Given the description of an element on the screen output the (x, y) to click on. 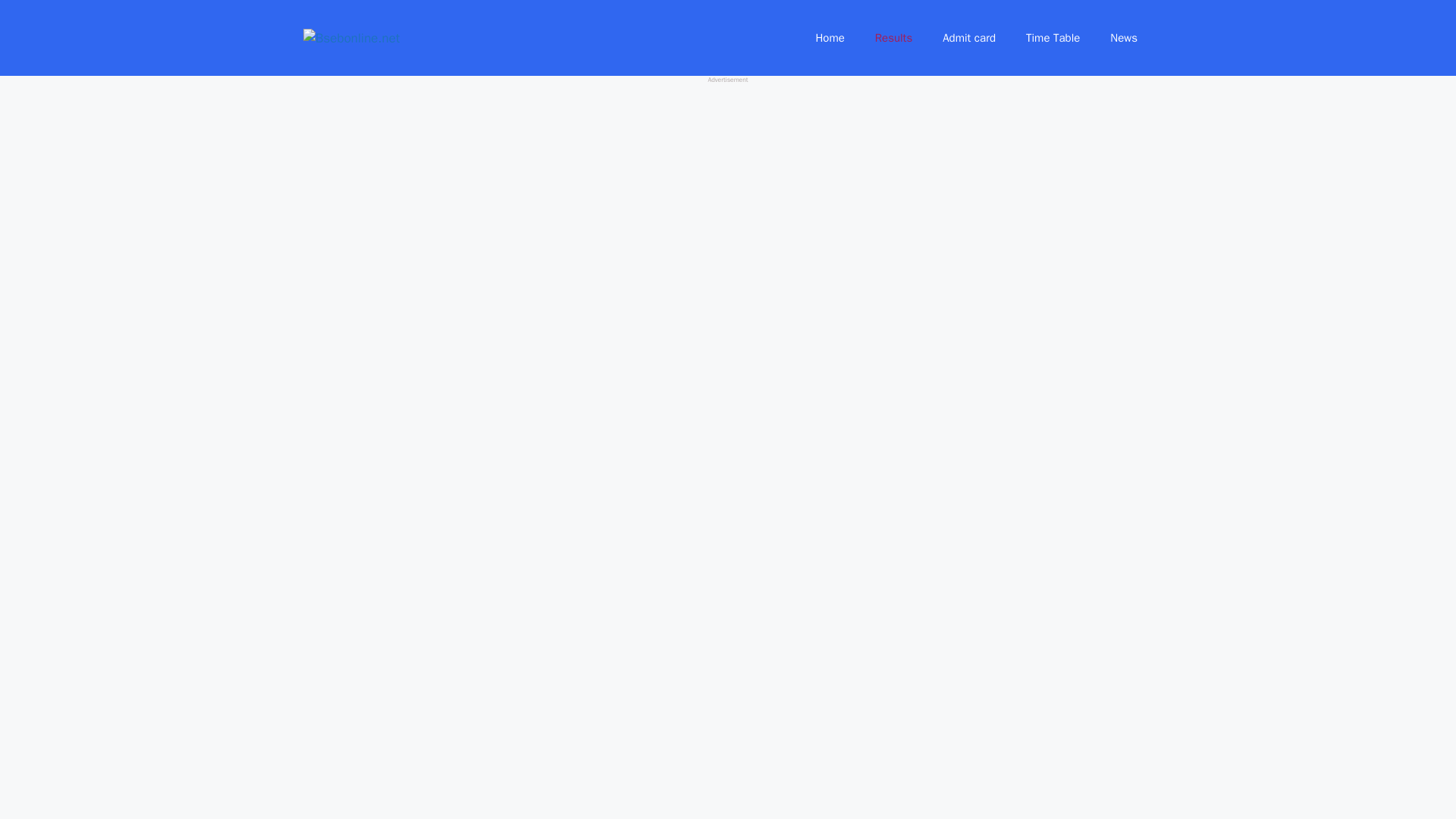
Home (829, 37)
Admit card (968, 37)
Time Table (1052, 37)
News (1123, 37)
Results (893, 37)
